Given the description of an element on the screen output the (x, y) to click on. 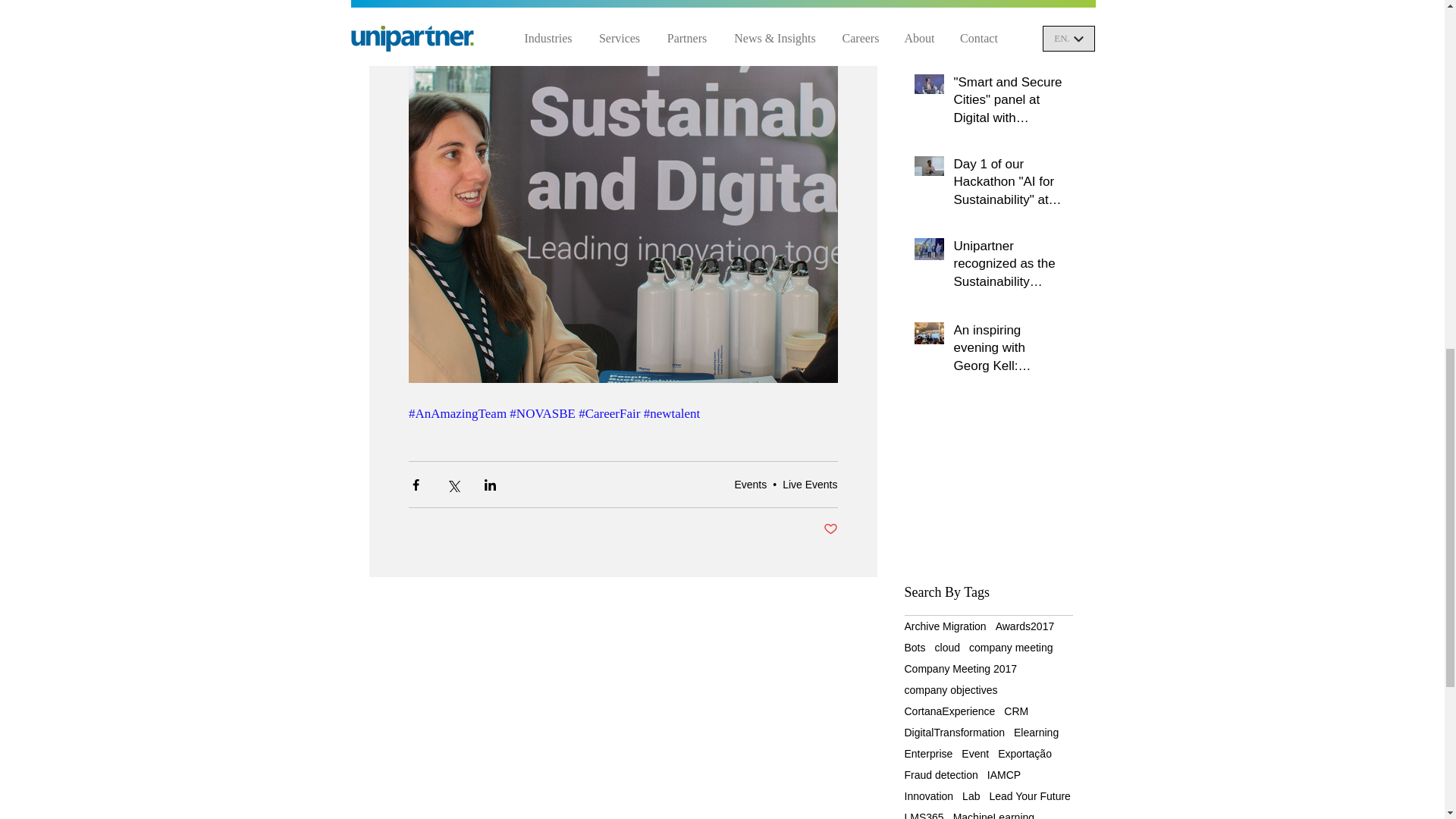
Live Events (810, 484)
Events (750, 484)
Post not marked as liked (831, 529)
